Given the description of an element on the screen output the (x, y) to click on. 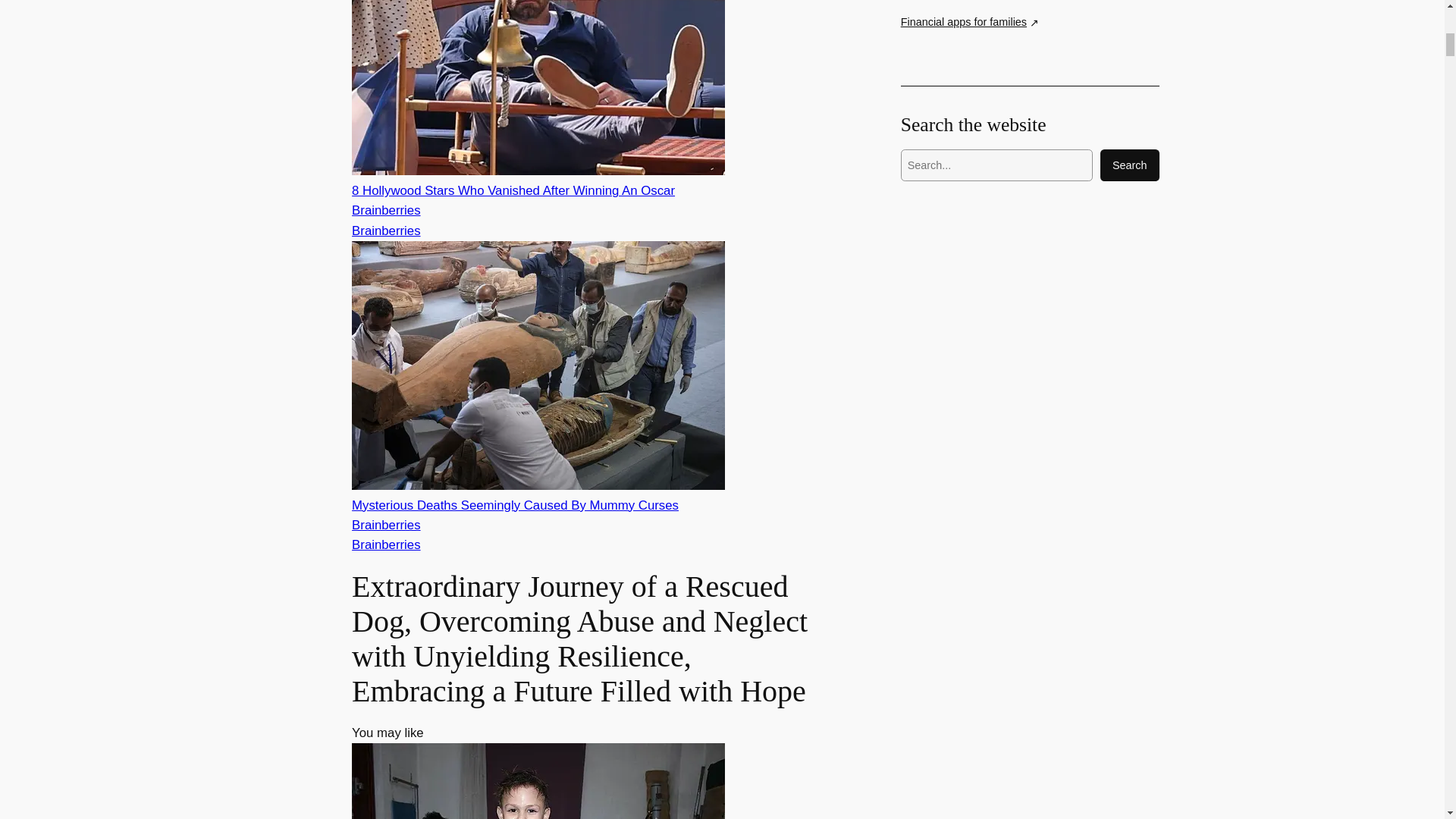
Latest inflation report (957, 0)
Search (1129, 164)
Financial apps for families (970, 22)
